Given the description of an element on the screen output the (x, y) to click on. 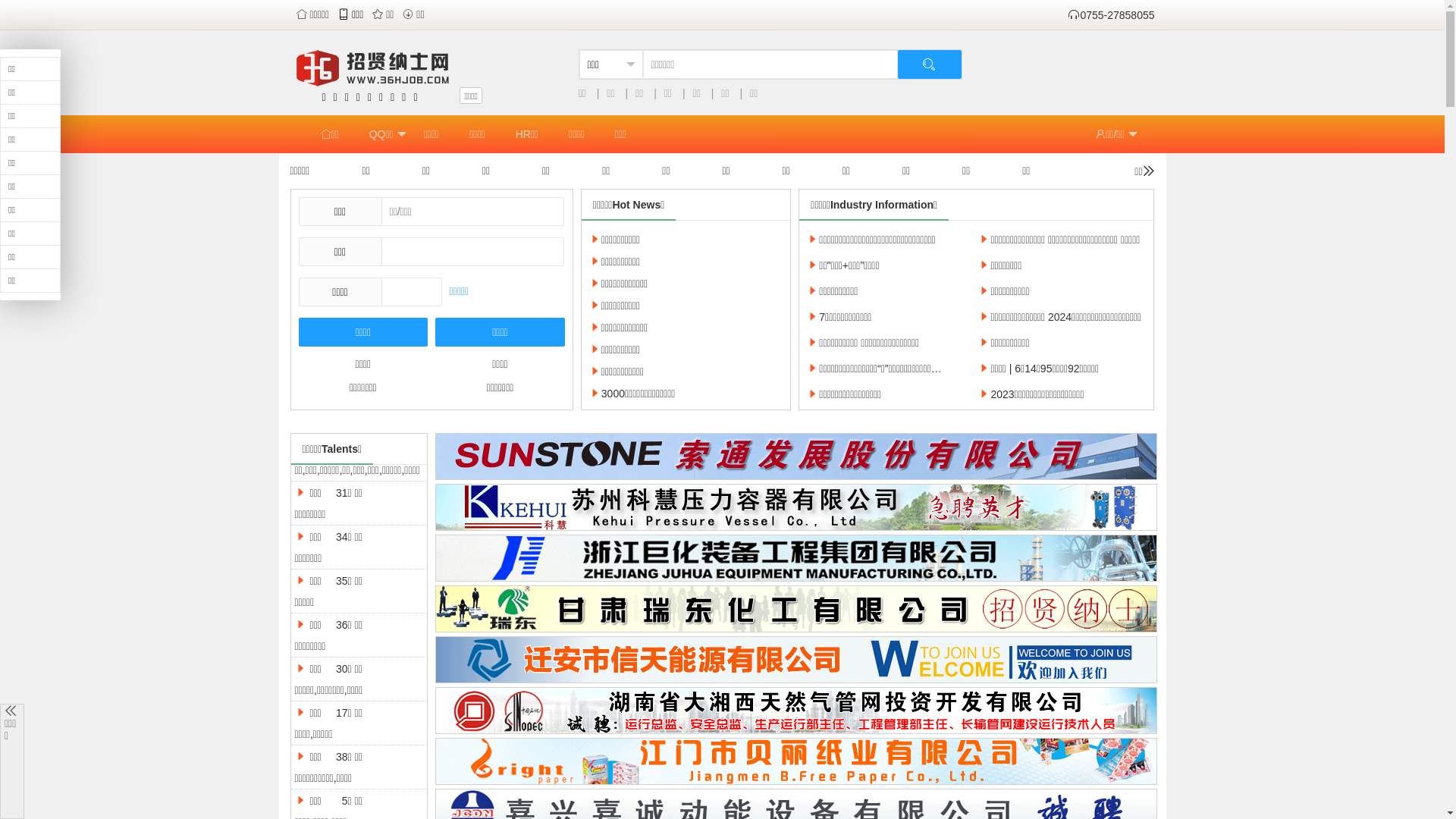
0755-27858055 Element type: text (1110, 15)
